Given the description of an element on the screen output the (x, y) to click on. 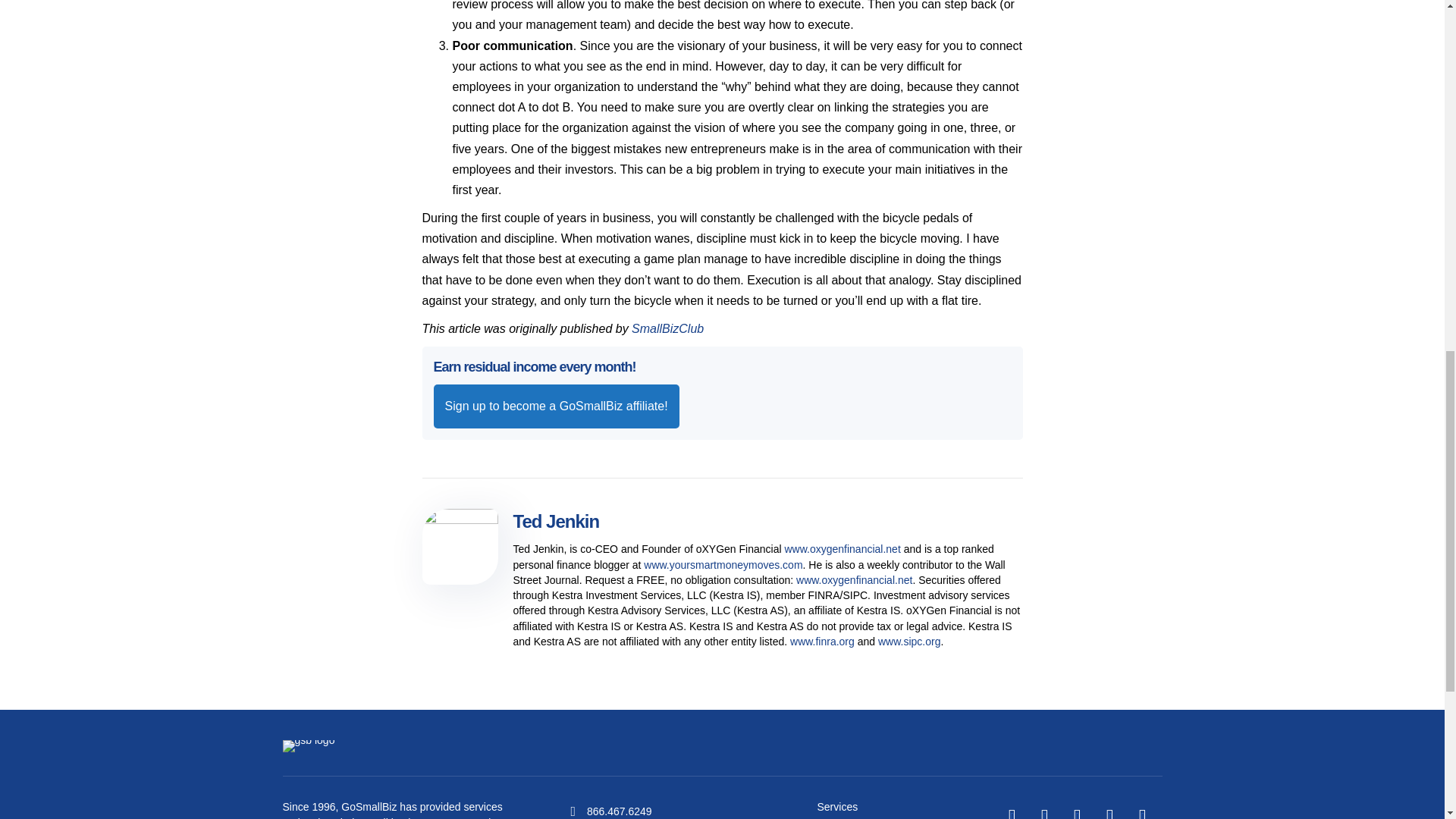
www.finra.org (822, 641)
Services (836, 806)
www.yoursmartmoneymoves.com (722, 563)
Youtube (1109, 812)
Facebook (1011, 812)
Linkedin (1077, 812)
Twitter (1044, 812)
SmallBizClub (667, 328)
www.oxygenfinancial.net (854, 580)
Group 3 (308, 746)
